Given the description of an element on the screen output the (x, y) to click on. 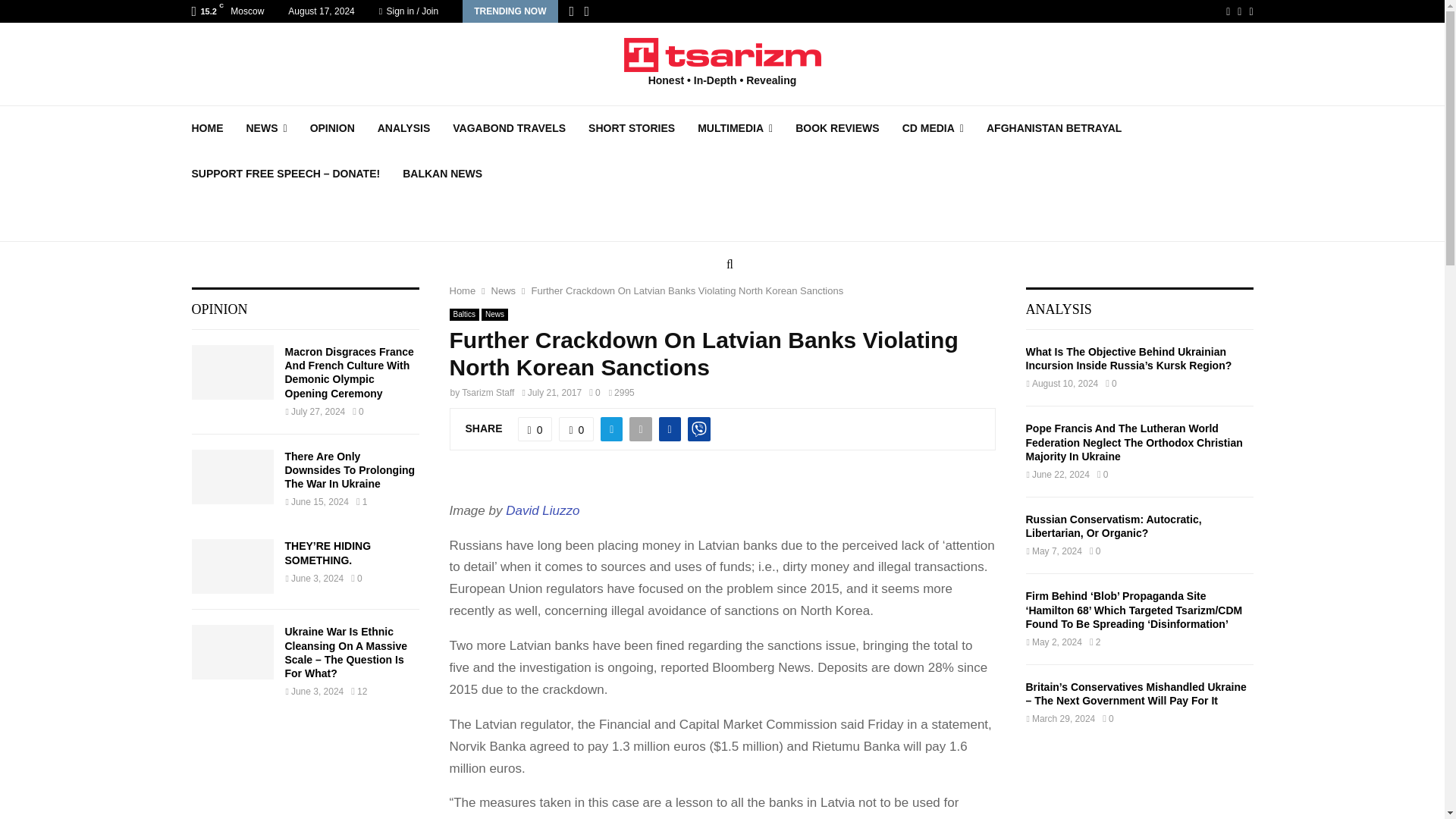
NEWS (266, 127)
Like (535, 428)
Sign up new account (722, 415)
Login to your account (722, 293)
